Given the description of an element on the screen output the (x, y) to click on. 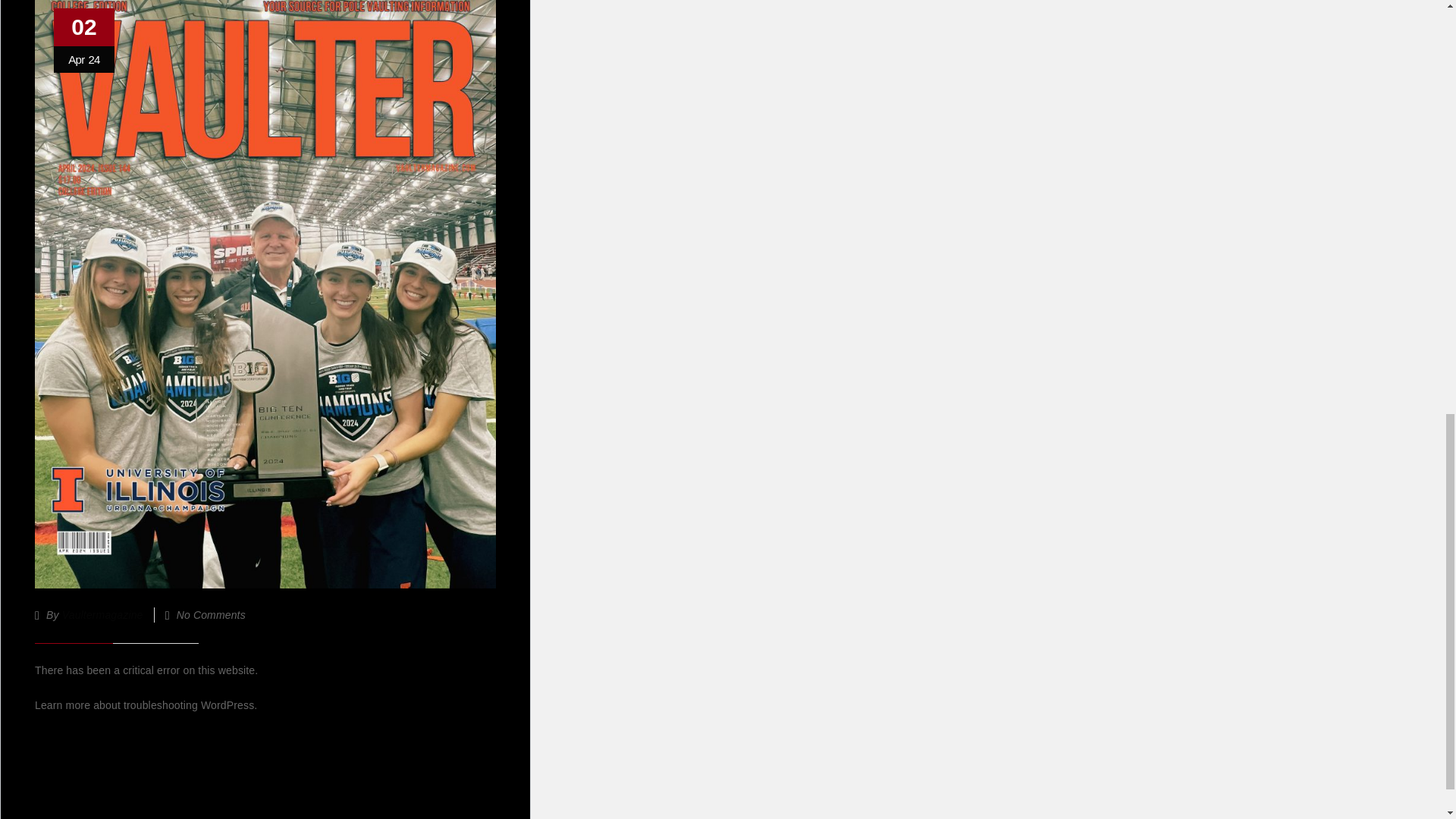
Vaultermagazine (102, 614)
Posts by vaultermagazine (102, 614)
Learn more about troubleshooting WordPress. (145, 705)
No Comments (211, 614)
